Given the description of an element on the screen output the (x, y) to click on. 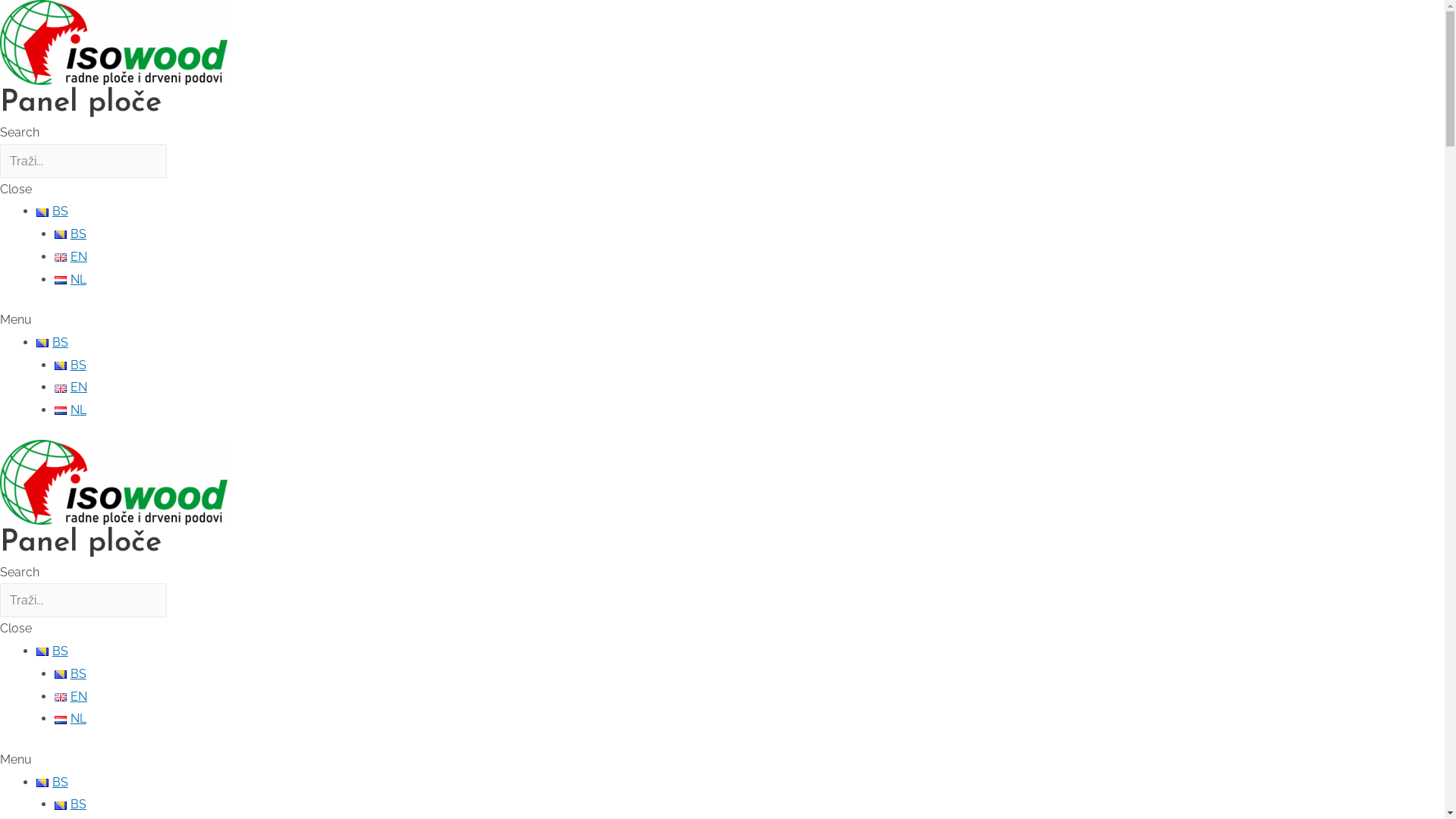
BS Element type: text (52, 342)
BS Element type: text (52, 210)
EN Element type: text (70, 696)
BS Element type: text (70, 673)
BS Element type: text (70, 233)
BS Element type: text (52, 650)
NL Element type: text (70, 409)
BS Element type: text (70, 804)
Search Element type: hover (83, 161)
NL Element type: text (70, 279)
Search Element type: hover (83, 600)
NL Element type: text (70, 718)
EN Element type: text (70, 256)
BS Element type: text (70, 364)
BS Element type: text (52, 782)
EN Element type: text (70, 386)
